Given the description of an element on the screen output the (x, y) to click on. 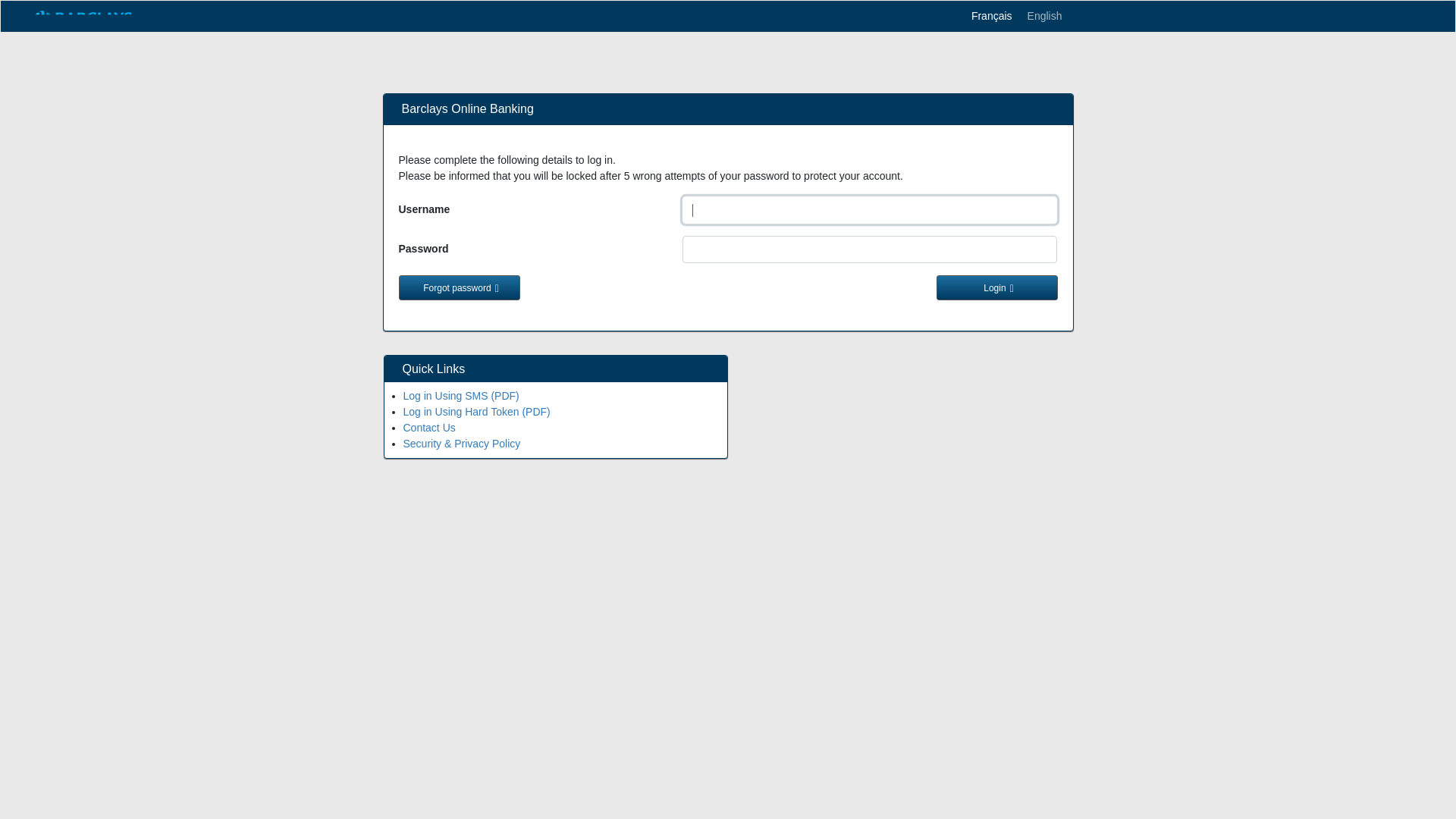
Forgot password Element type: text (456, 287)
Security & Privacy Policy Element type: text (461, 428)
Log in Using SMS (PDF) Element type: text (461, 380)
Log in Using Hard Token (PDF) Element type: text (476, 396)
Forgot password Element type: text (459, 287)
Contact Us Element type: text (429, 412)
English Element type: text (1037, 16)
Login Element type: text (996, 287)
